Given the description of an element on the screen output the (x, y) to click on. 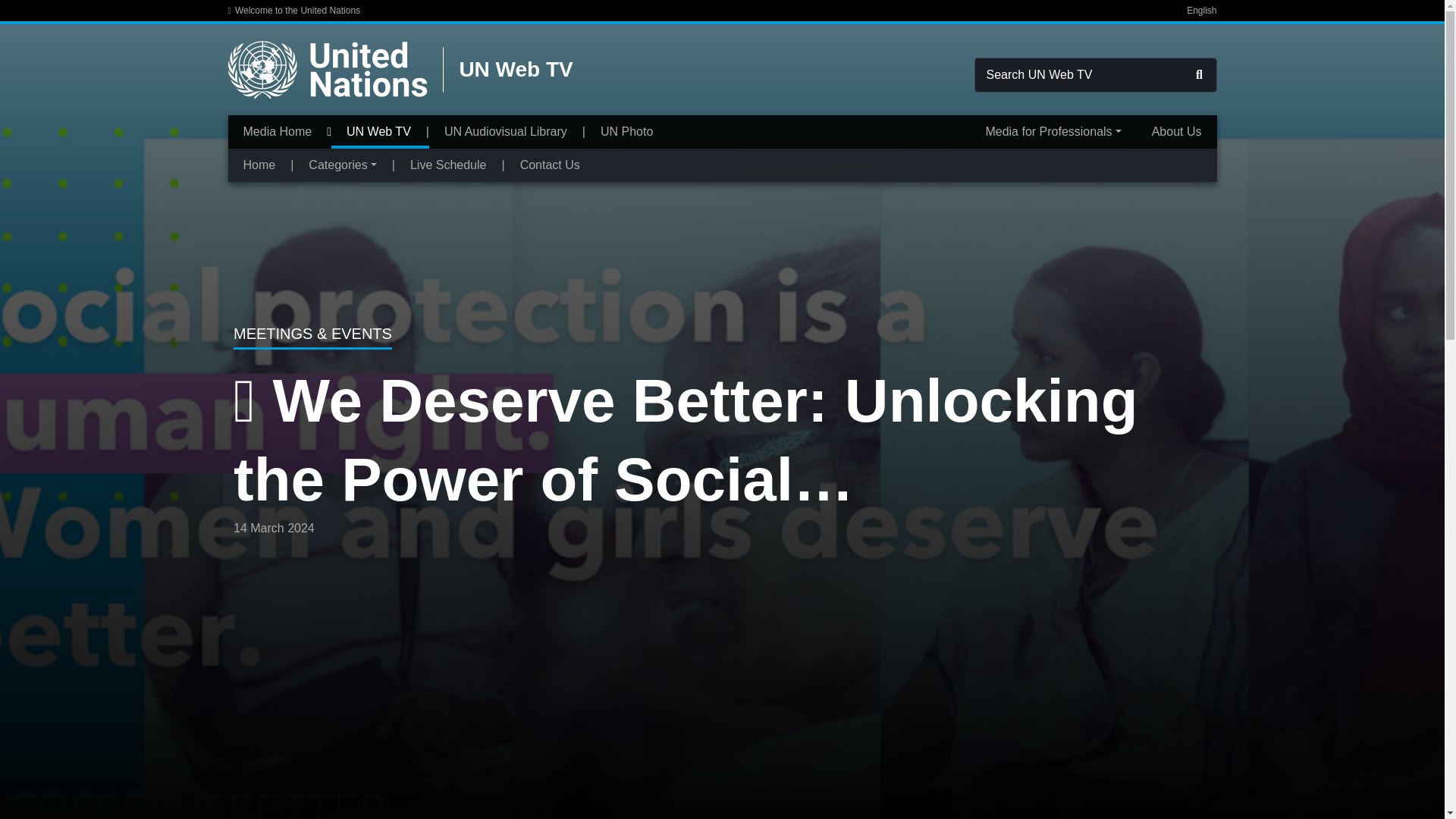
Welcome to the United Nations (293, 10)
Categories (341, 165)
Search UN Web TV (1198, 74)
English (1200, 10)
Media Home (277, 131)
UN Web TV (378, 131)
United Nations (327, 69)
About Us (1176, 131)
UN Audiovisual Library (505, 131)
Home (259, 165)
Media for Professionals (1053, 131)
UN Web TV (507, 69)
UN Photo (625, 131)
Search UN Web TV (1198, 74)
